Given the description of an element on the screen output the (x, y) to click on. 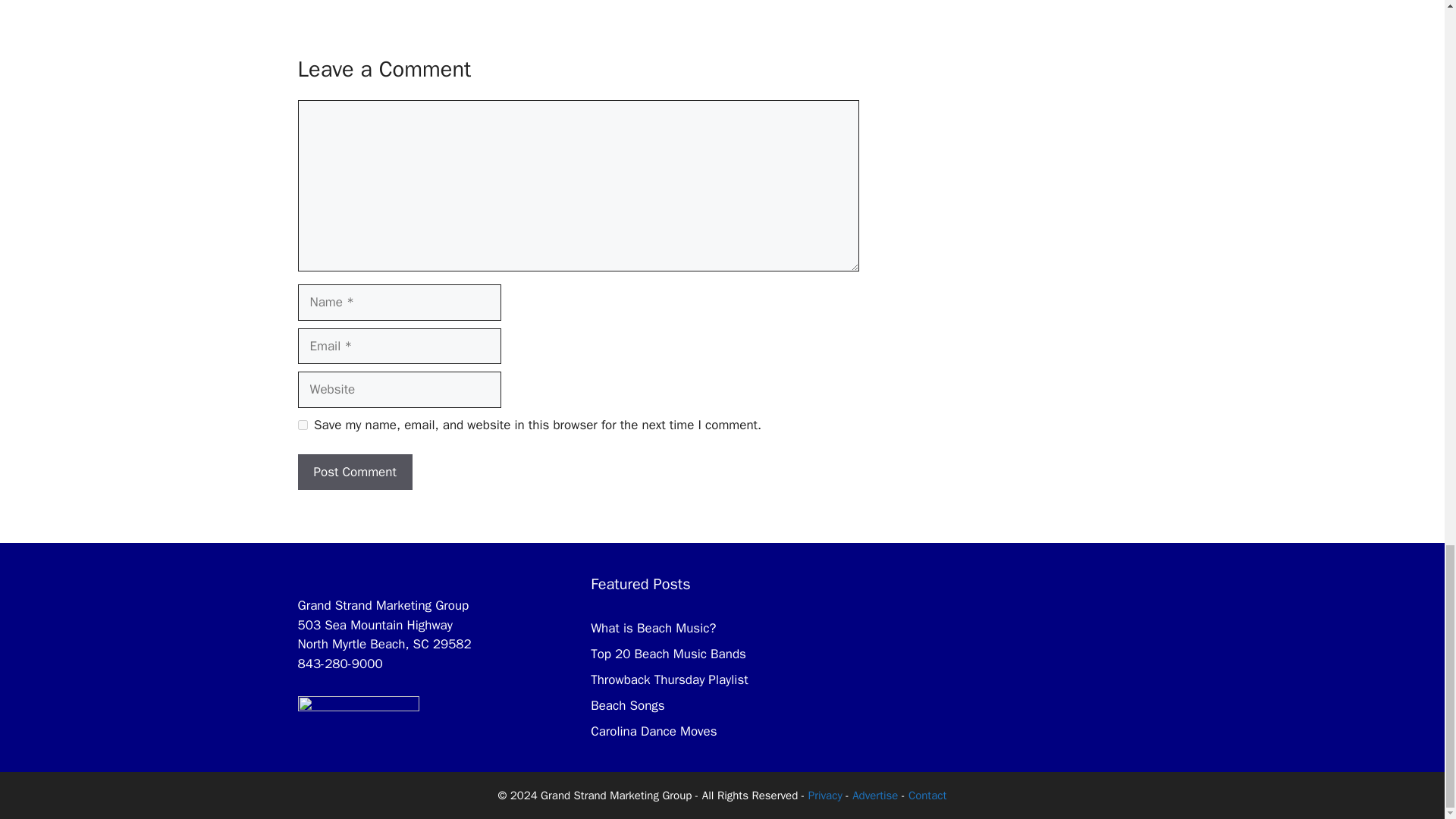
Post Comment (354, 472)
yes (302, 424)
Post Comment (354, 472)
